Given the description of an element on the screen output the (x, y) to click on. 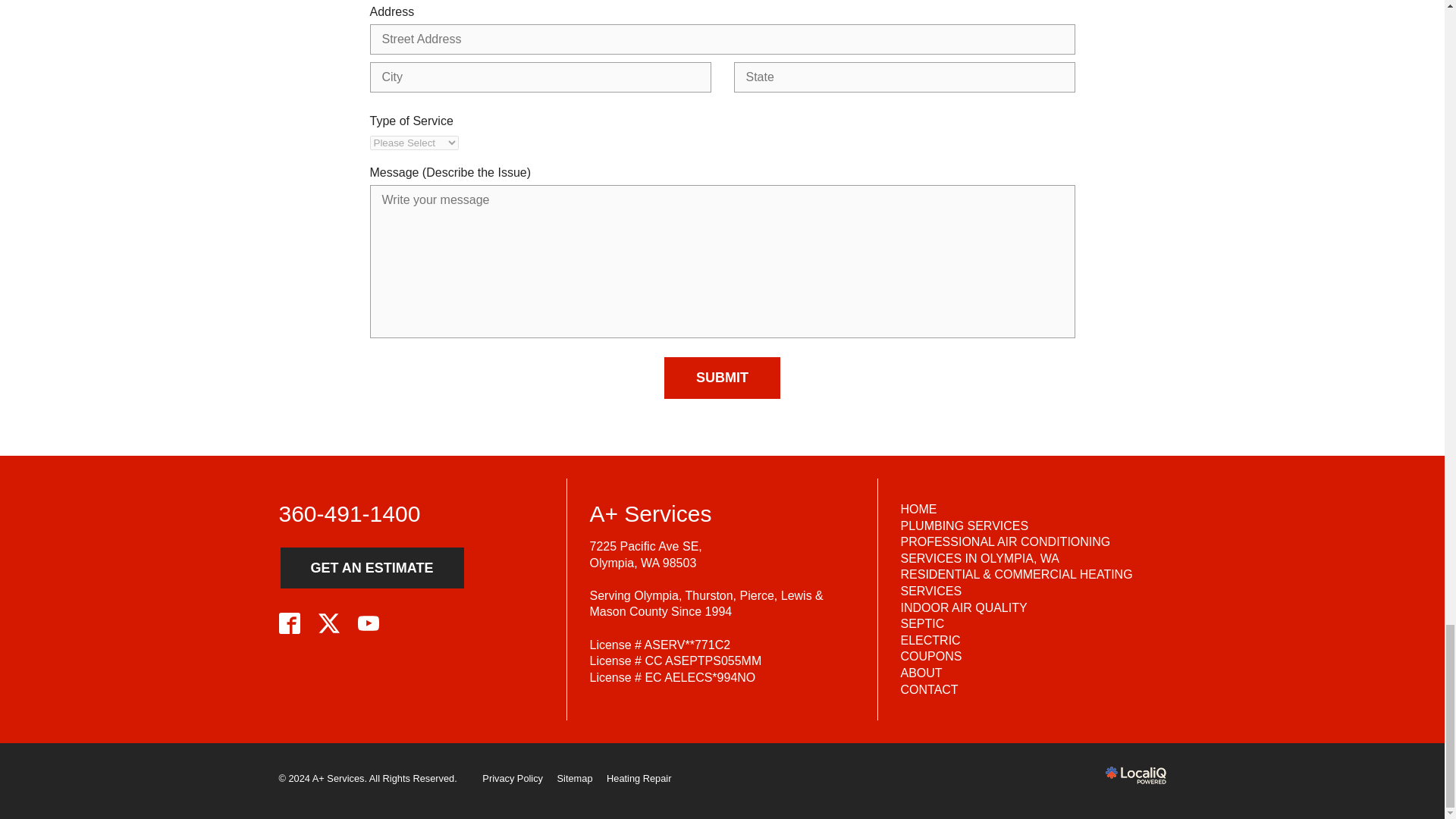
Submit (721, 377)
youtube (368, 622)
facebook (289, 622)
twitter (328, 622)
